Given the description of an element on the screen output the (x, y) to click on. 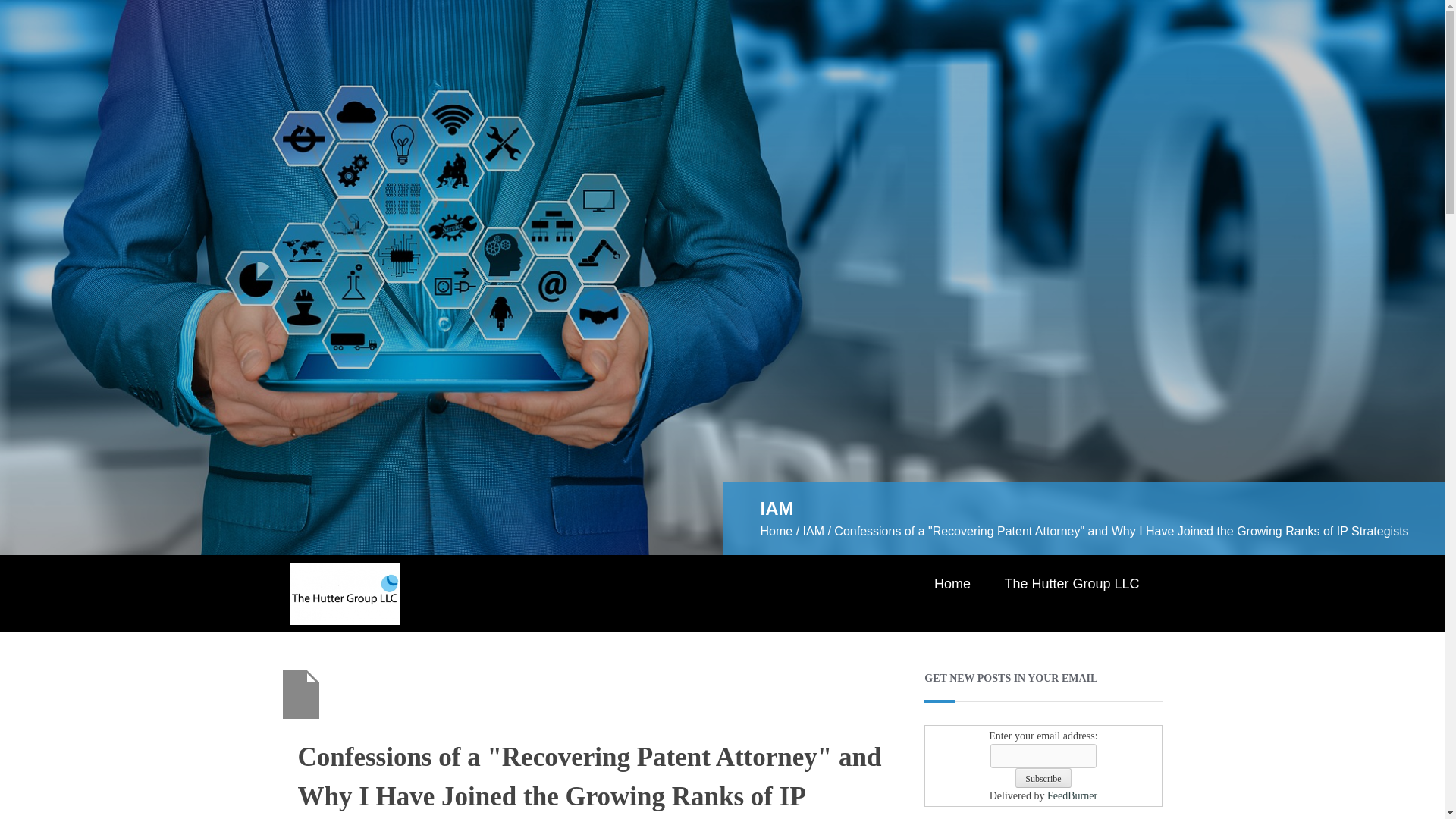
Subscribe (1042, 777)
FeedBurner (1071, 795)
Home (776, 530)
IP Asset Maximizer Blog (344, 592)
Subscribe (1042, 777)
Home (951, 584)
The Hutter Group LLC (1071, 584)
IAM (813, 530)
